Given the description of an element on the screen output the (x, y) to click on. 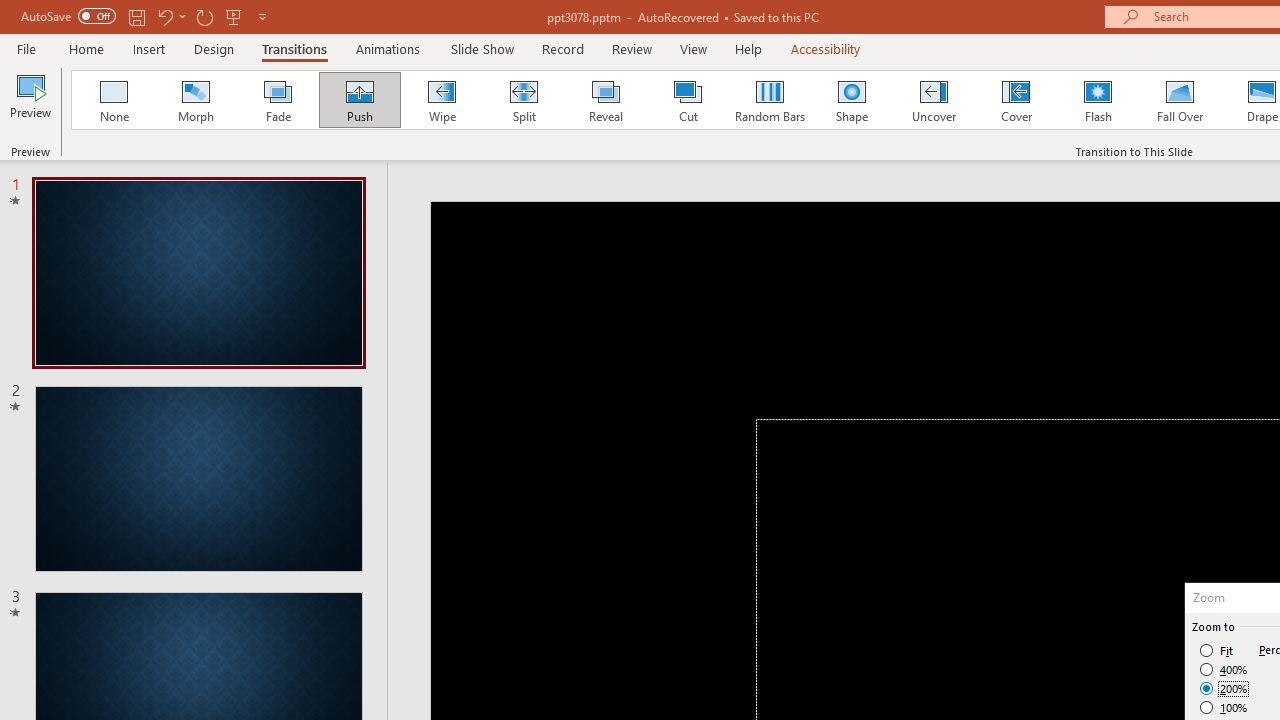
Morph (195, 100)
Flash (1098, 100)
Fit (1217, 650)
Wipe (441, 100)
Split (523, 100)
Shape (852, 100)
Fade (277, 100)
